Given the description of an element on the screen output the (x, y) to click on. 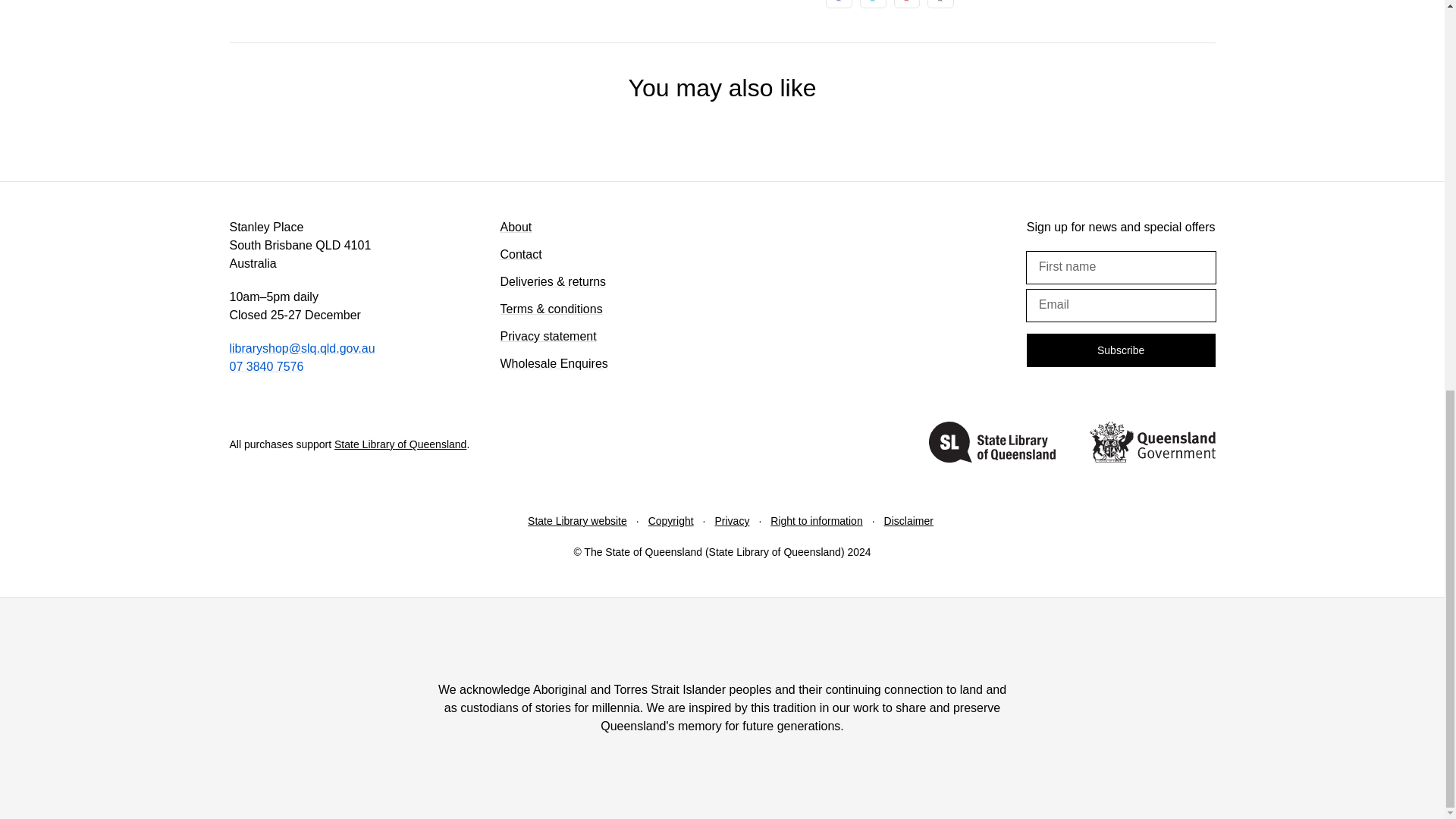
Go to Queensland Government homepage (1151, 444)
tel:07 3840 7576 (265, 366)
Go to Queensland State Library homepage (992, 444)
